Given the description of an element on the screen output the (x, y) to click on. 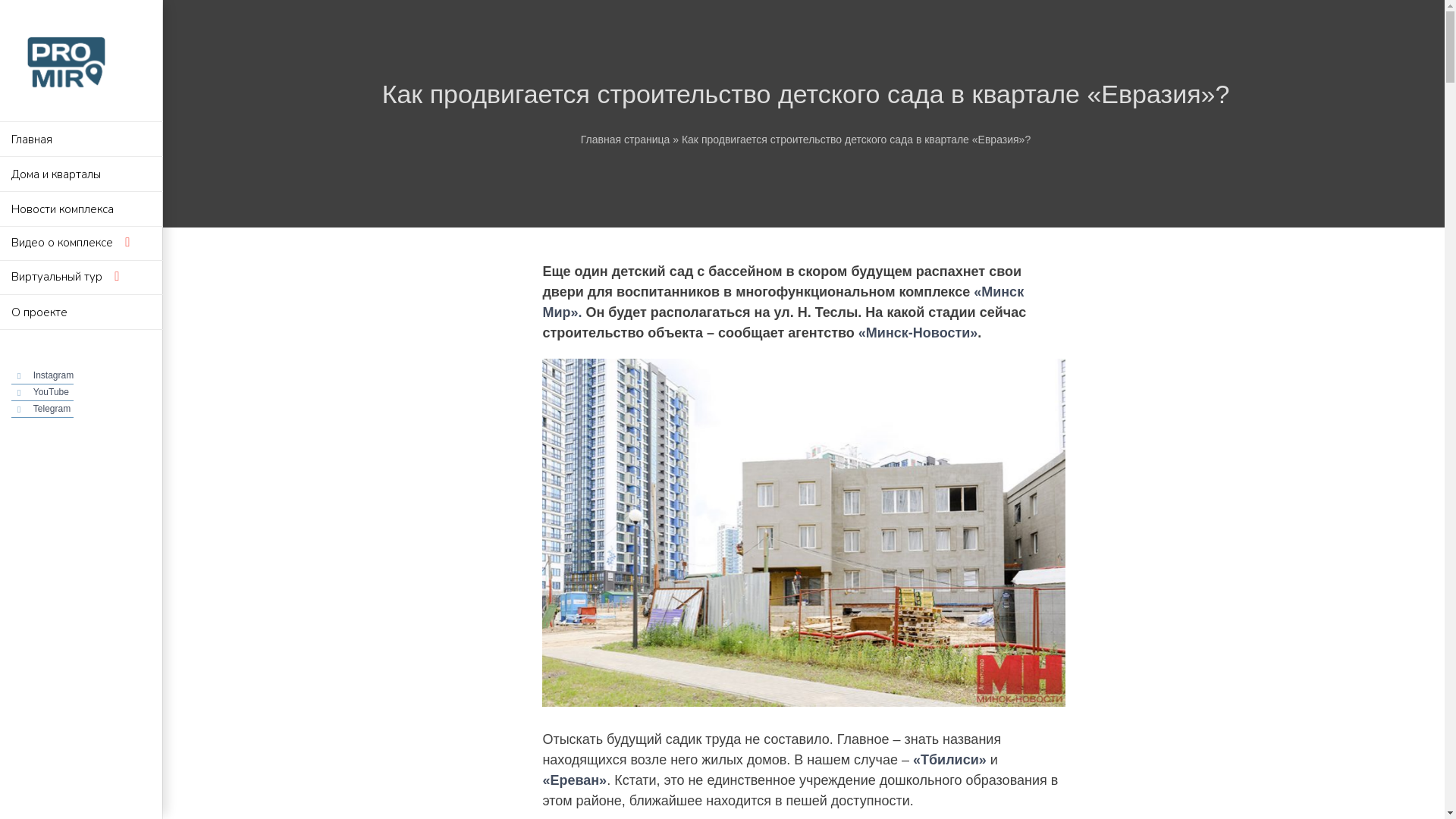
Telegram Element type: text (51, 408)
Instagram Element type: text (53, 375)
YouTube Element type: text (51, 391)
